Given the description of an element on the screen output the (x, y) to click on. 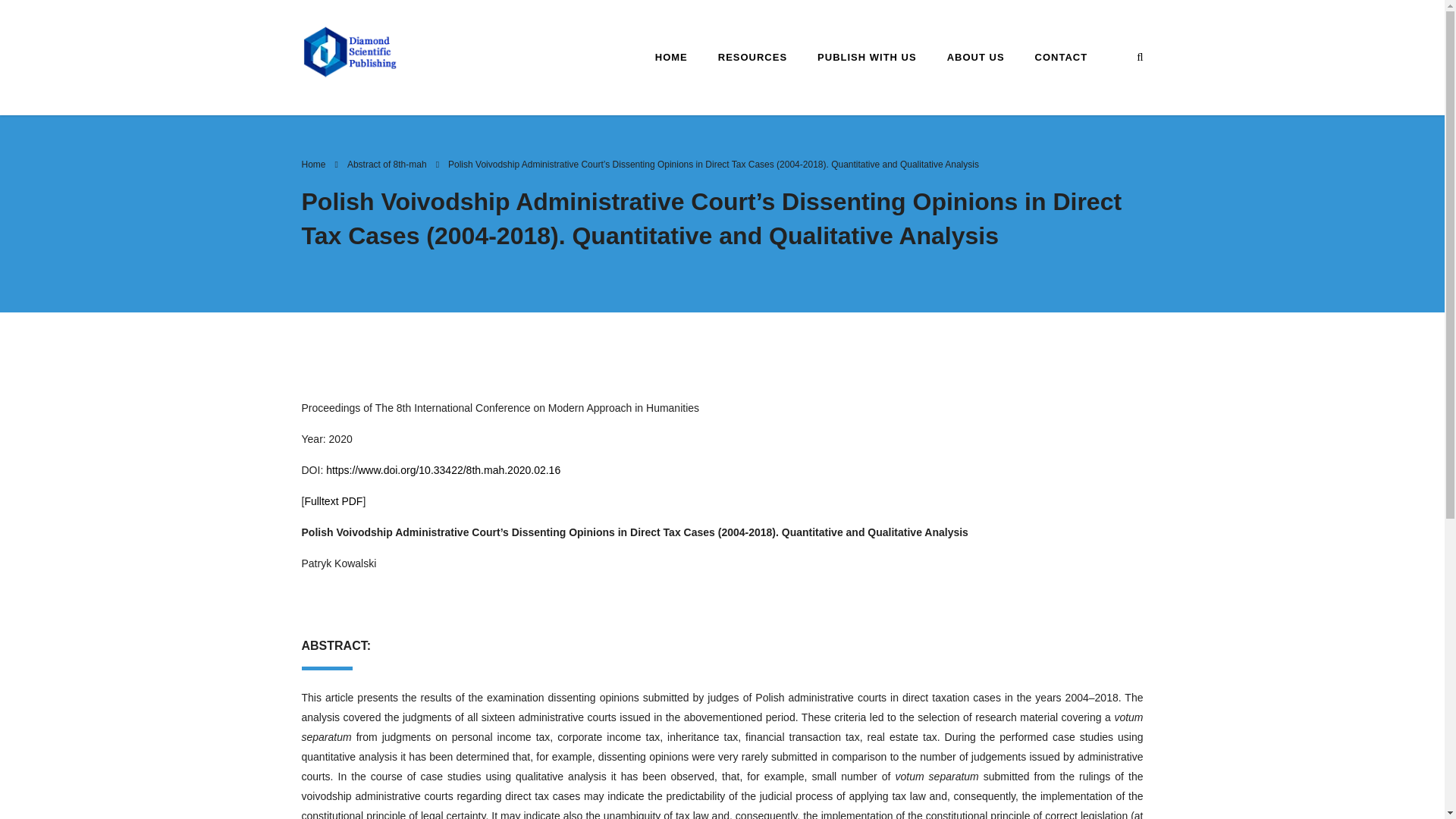
RESOURCES (752, 56)
Go to the Abstract of 8th-mah category archives. (386, 163)
Home (313, 163)
Fulltext PDF (333, 500)
HOME (671, 56)
Abstract of 8th-mah (386, 163)
PUBLISH WITH US (866, 56)
CONTACT (1061, 56)
ABOUT US (975, 56)
dpublication (349, 50)
